Given the description of an element on the screen output the (x, y) to click on. 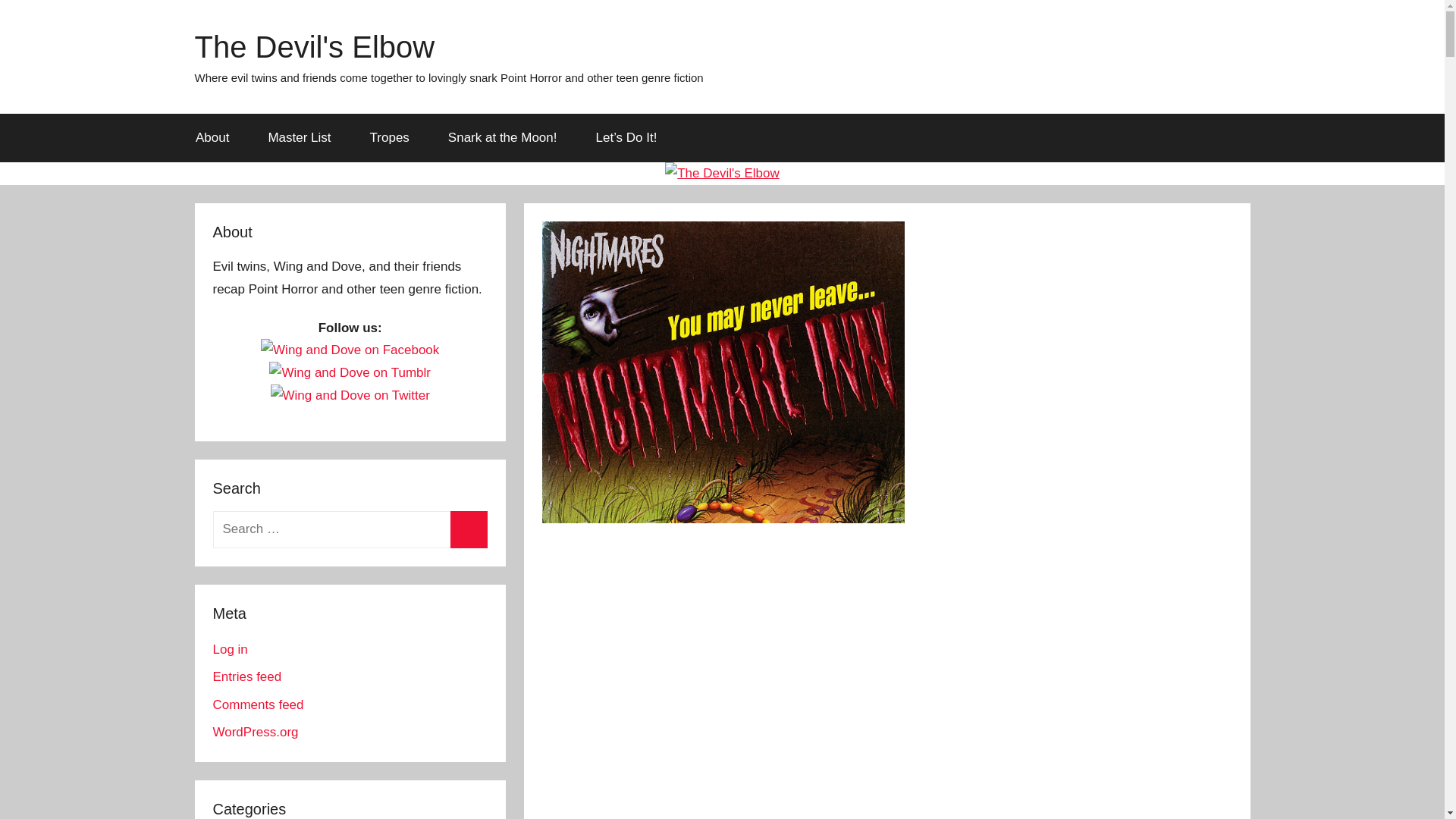
Wing and Dove on Tumblr (349, 372)
Wing and Dove on Twitter (349, 395)
Tropes (389, 137)
Wing and Dove on Facebook (349, 350)
Snark at the Moon! (502, 137)
The Devil's Elbow (313, 46)
Search for: (349, 529)
Master List (299, 137)
About (211, 137)
